Given the description of an element on the screen output the (x, y) to click on. 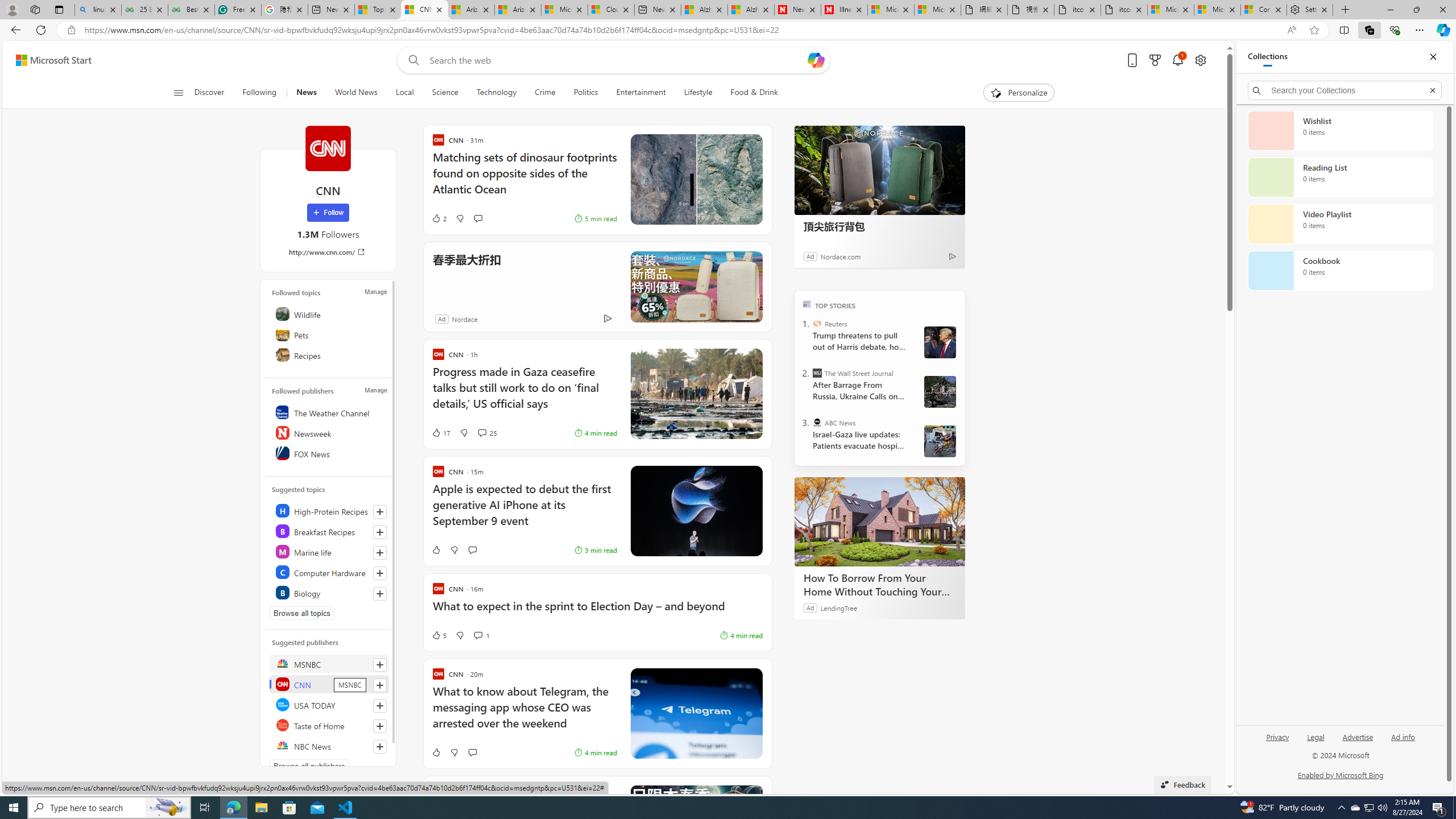
NBC News (328, 745)
FOX News (328, 452)
Reading List collection, 0 items (1339, 177)
Wishlist collection, 0 items (1339, 130)
LendingTree (838, 607)
Reuters (816, 323)
